Given the description of an element on the screen output the (x, y) to click on. 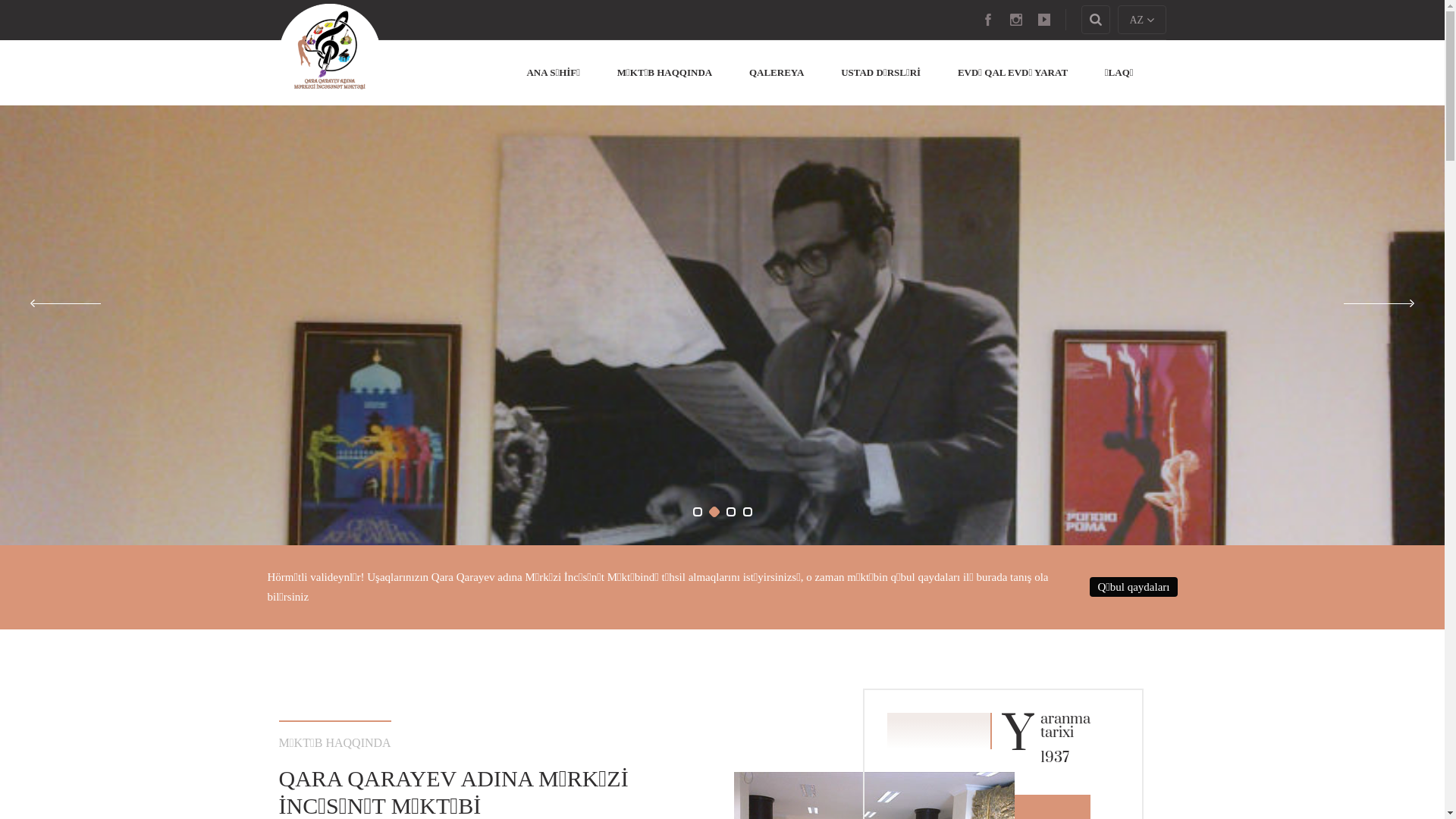
AZ Element type: text (1141, 19)
QALEREYA Element type: text (776, 72)
Prev Element type: text (66, 303)
Next Element type: text (1377, 303)
